Given the description of an element on the screen output the (x, y) to click on. 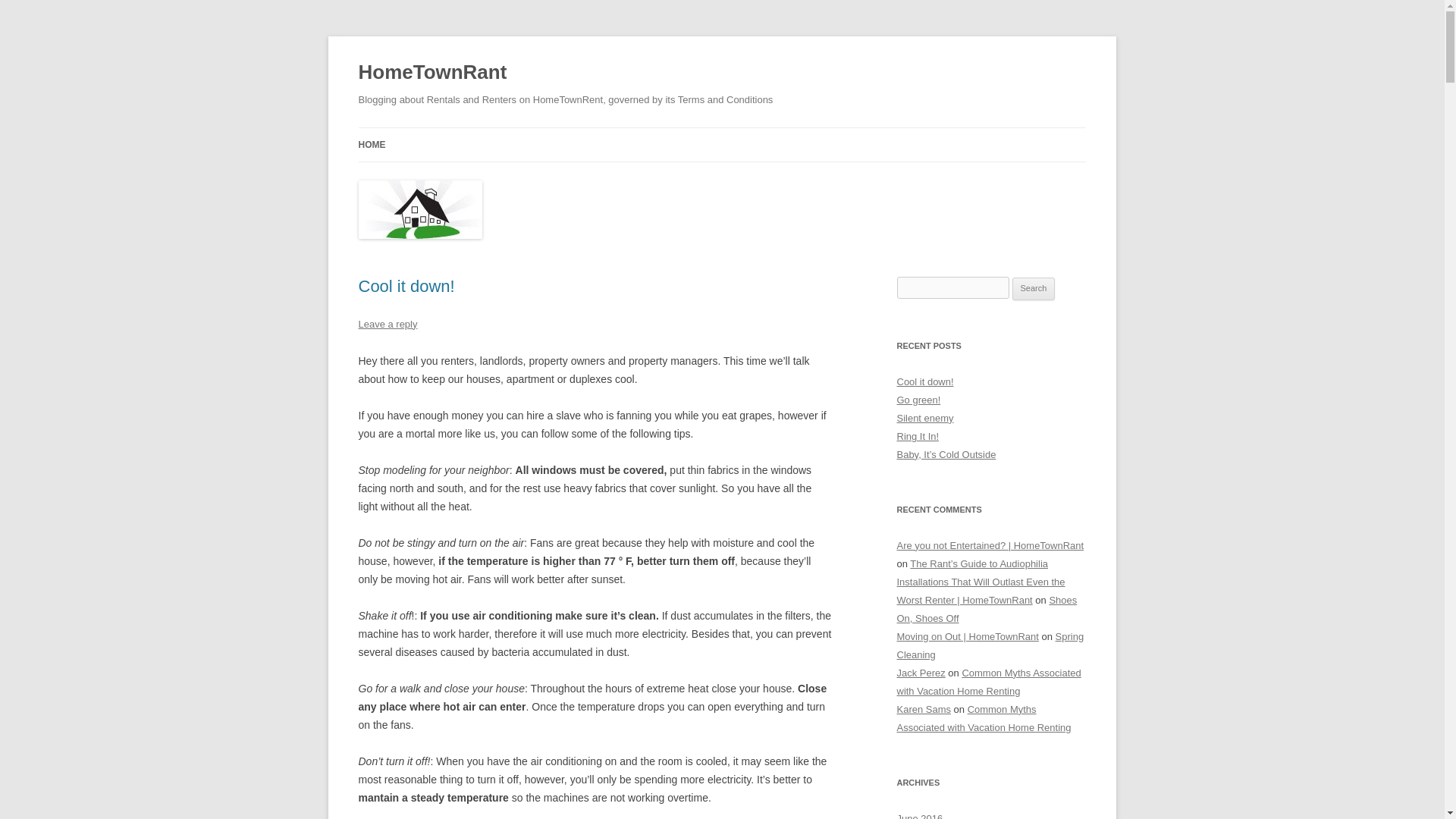
Skip to content (757, 132)
Cool it down! (406, 285)
Comment on Cool it down! (387, 324)
Search (1033, 288)
Leave a reply (387, 324)
HomeTownRant (432, 72)
HomeTownRant (432, 72)
Skip to content (757, 132)
